Given the description of an element on the screen output the (x, y) to click on. 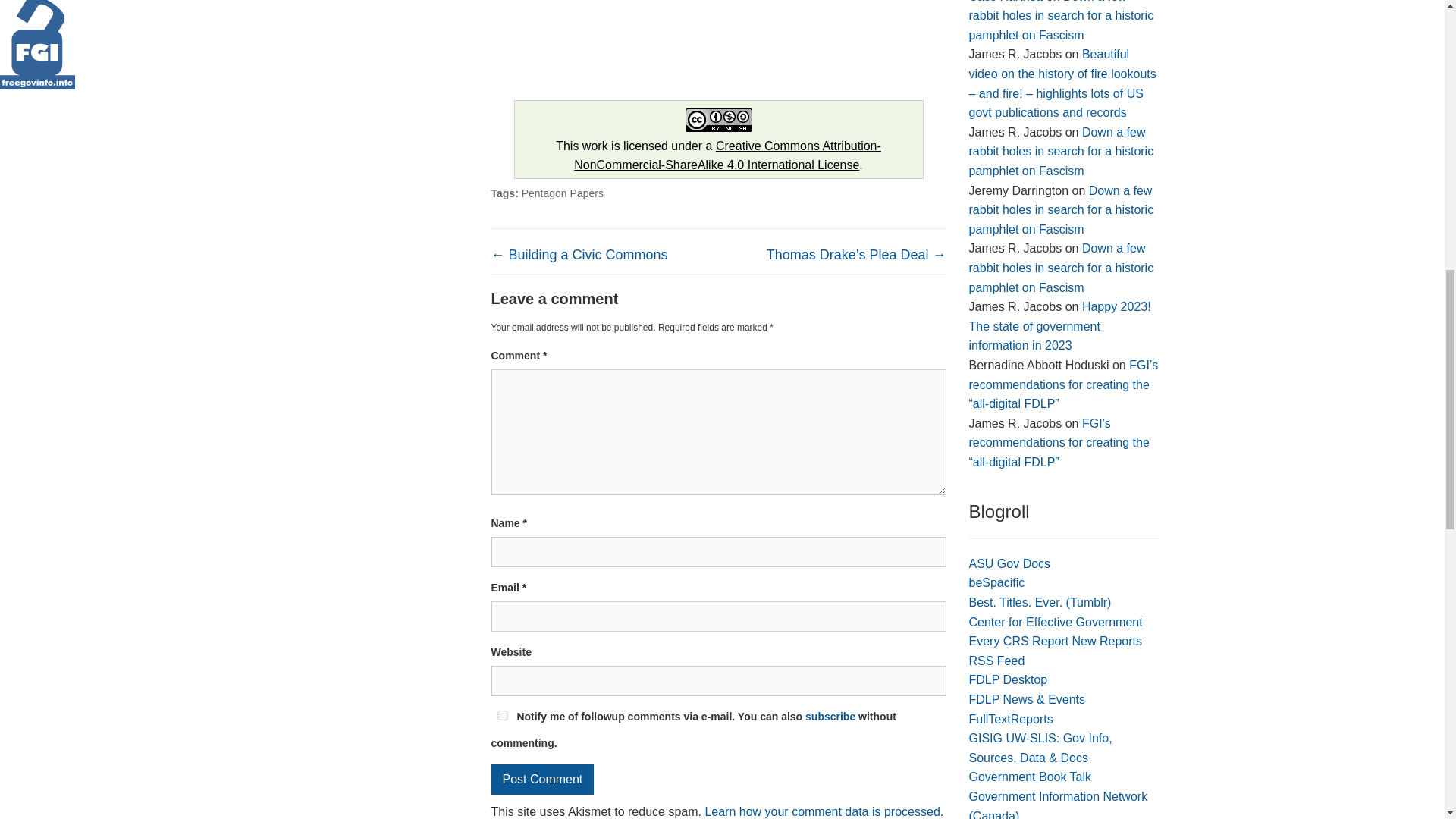
subscribe (830, 716)
Post Comment (543, 779)
Learn how your comment data is processed (821, 811)
After 40 Years, the Complete Pentagon Papers (605, 41)
Pentagon Papers (562, 193)
Post Comment (543, 779)
yes (502, 715)
